Given the description of an element on the screen output the (x, y) to click on. 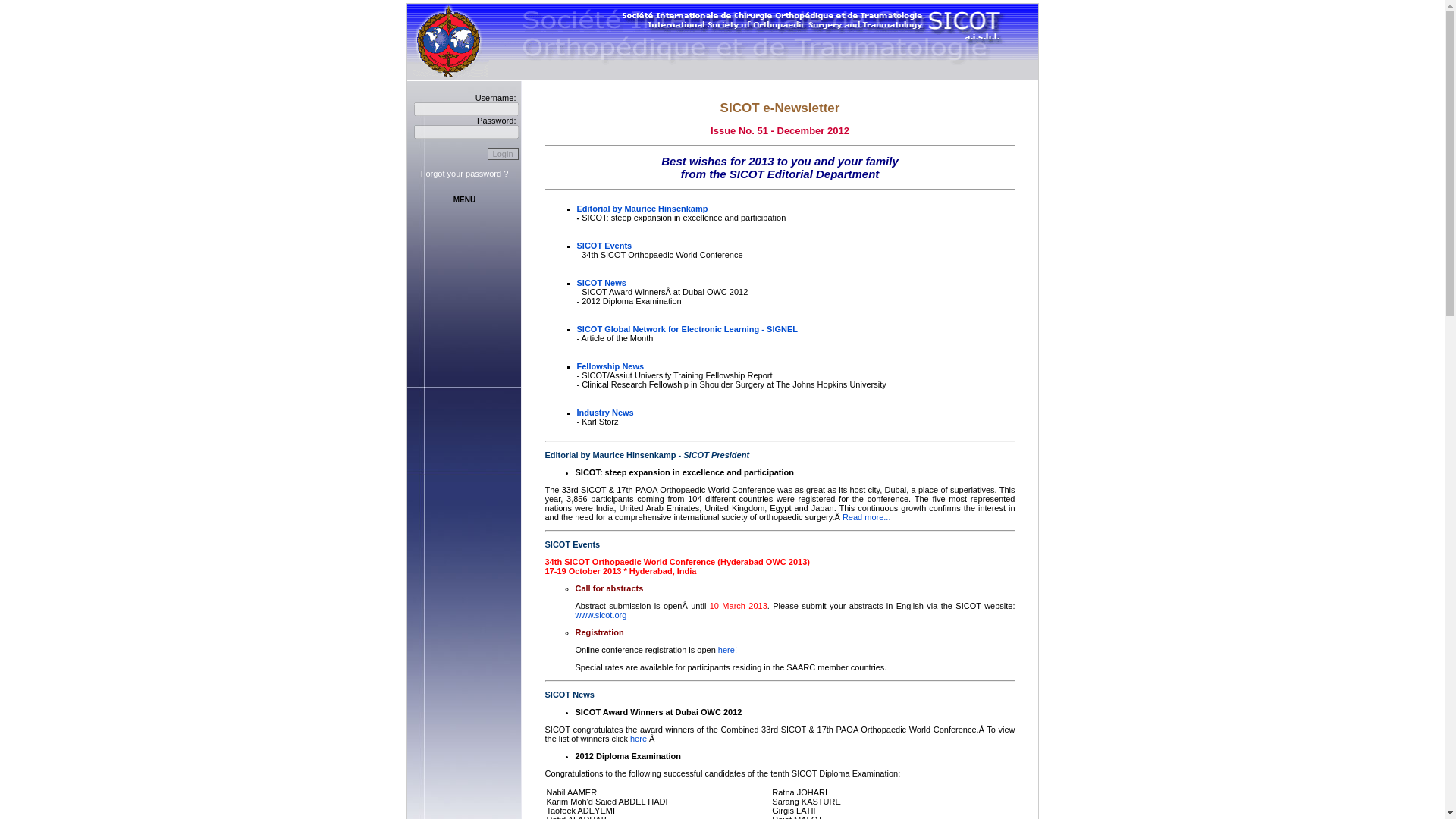
Editorial by Maurice Hinsenkamp (641, 207)
SICOT News (601, 282)
SICOT Global Network for Electronic Learning - SIGNEL (686, 328)
here (726, 649)
Industry News (604, 411)
Fellowship News (609, 366)
Forgot your password ? (464, 173)
Login (502, 153)
Forgot your passorwd ? (464, 173)
www.sicot.org (600, 614)
here (638, 737)
SICOT Events (603, 245)
Read more... (867, 516)
Login (502, 153)
